Given the description of an element on the screen output the (x, y) to click on. 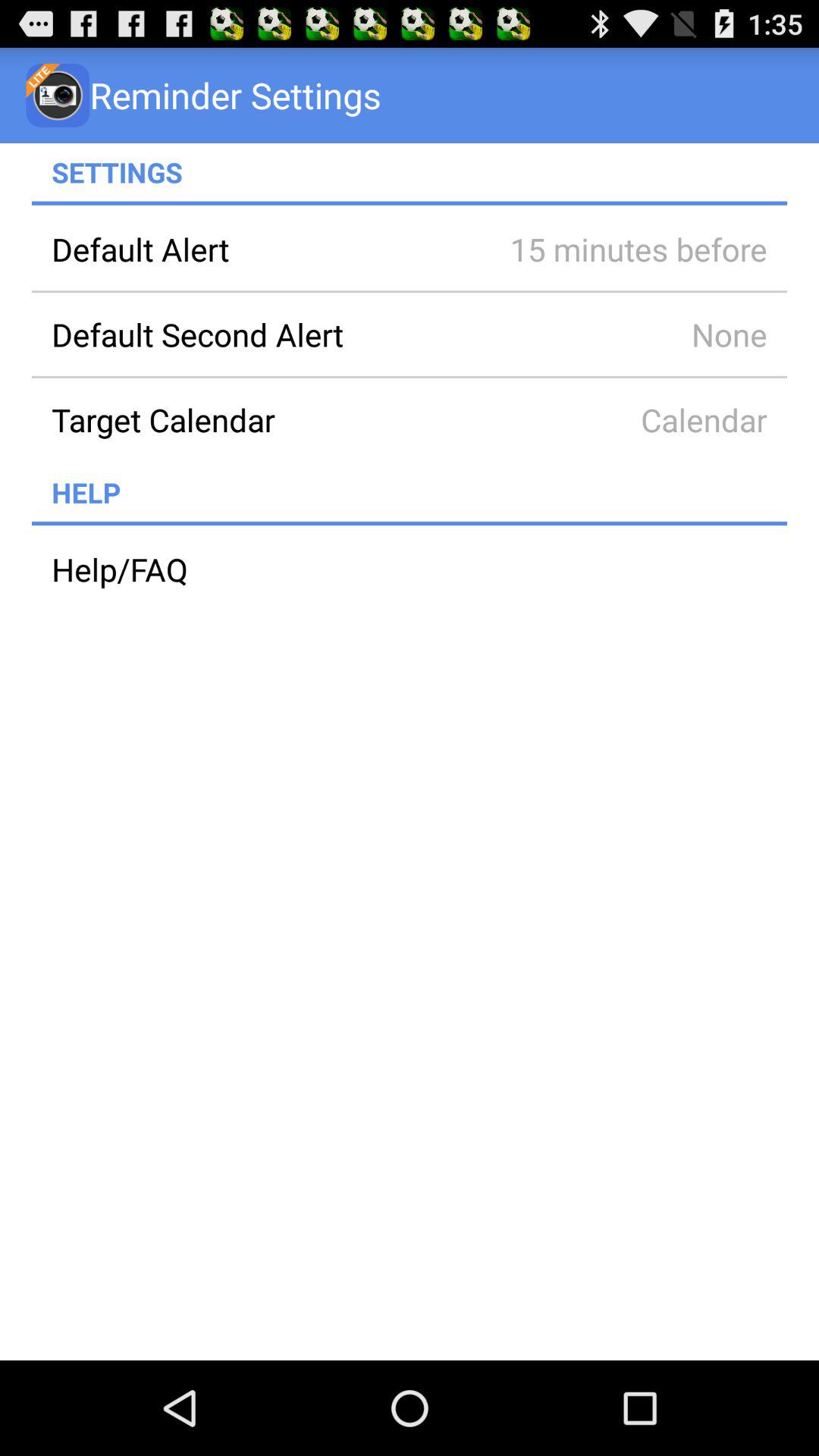
launch the icon below 15 minutes before icon (617, 334)
